Given the description of an element on the screen output the (x, y) to click on. 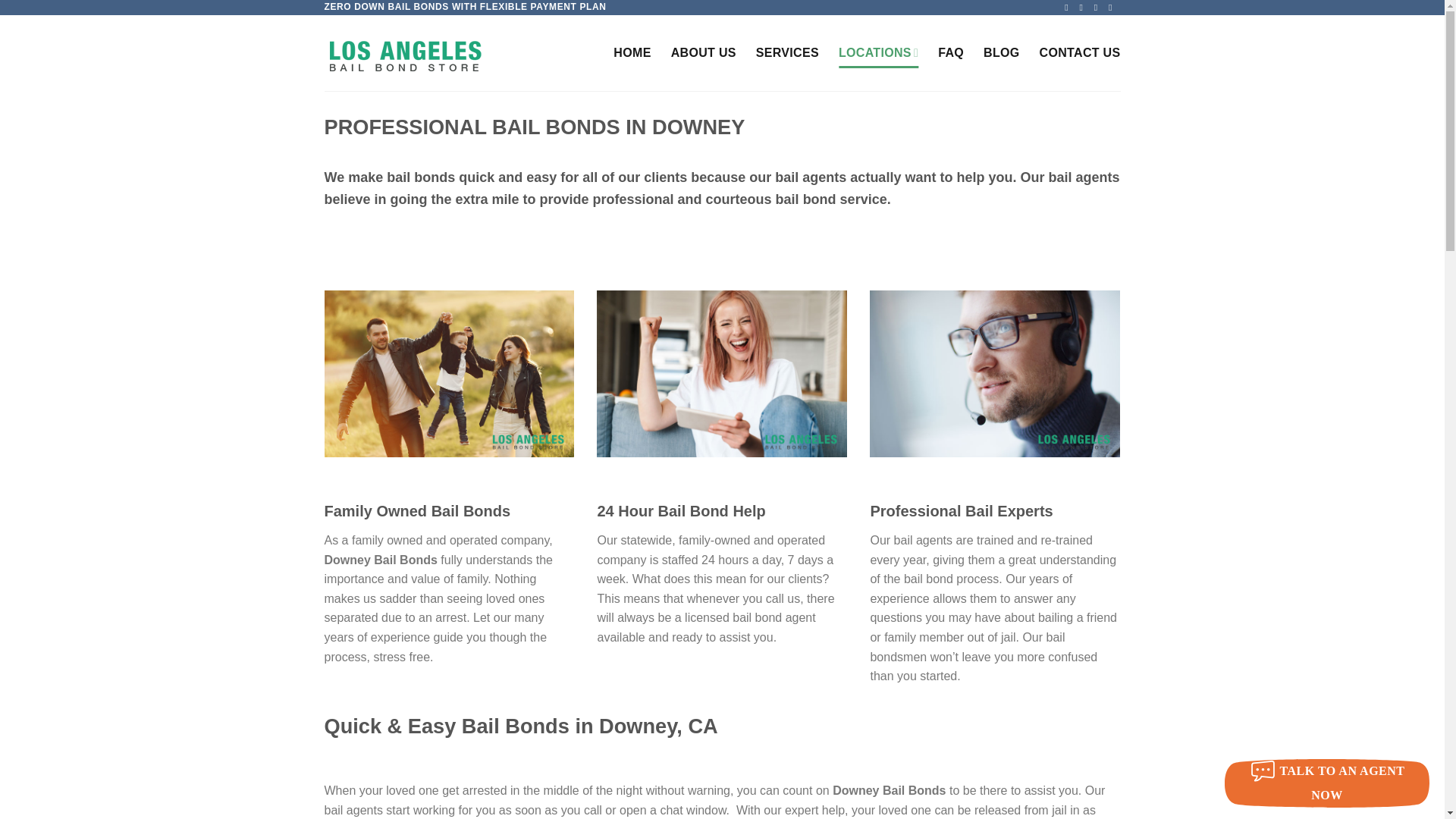
LOS ANGELES BAIL BOND STORE - No Down Payment Bail Bonds (444, 53)
BLOG (1002, 52)
ABOUT US (703, 52)
CONTACT US (1080, 52)
FAQ (950, 52)
HOME (631, 52)
LOCATIONS (878, 52)
downey-bail-agents - LOS ANGELES BAIL BOND STORE (994, 373)
SERVICES (786, 52)
